Given the description of an element on the screen output the (x, y) to click on. 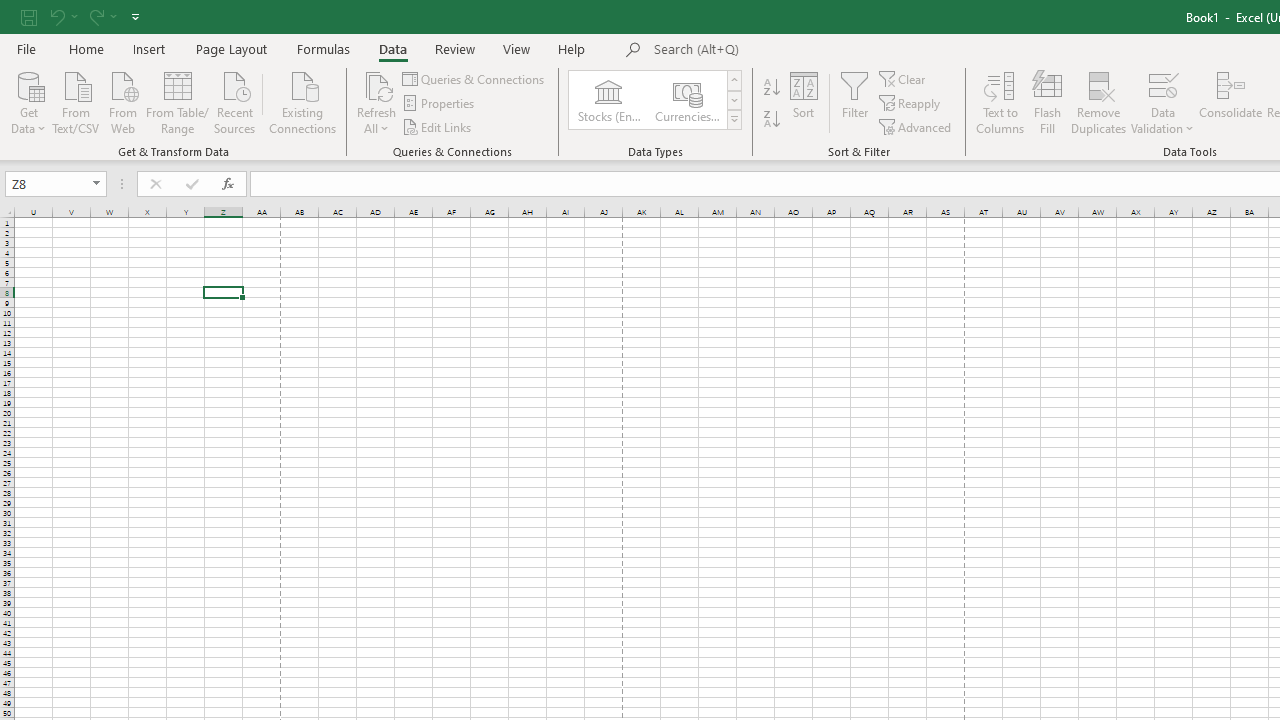
Currencies (English) (686, 100)
Filter (854, 102)
Stocks (English) (608, 100)
Text to Columns... (1000, 102)
Get Data (28, 101)
